Given the description of an element on the screen output the (x, y) to click on. 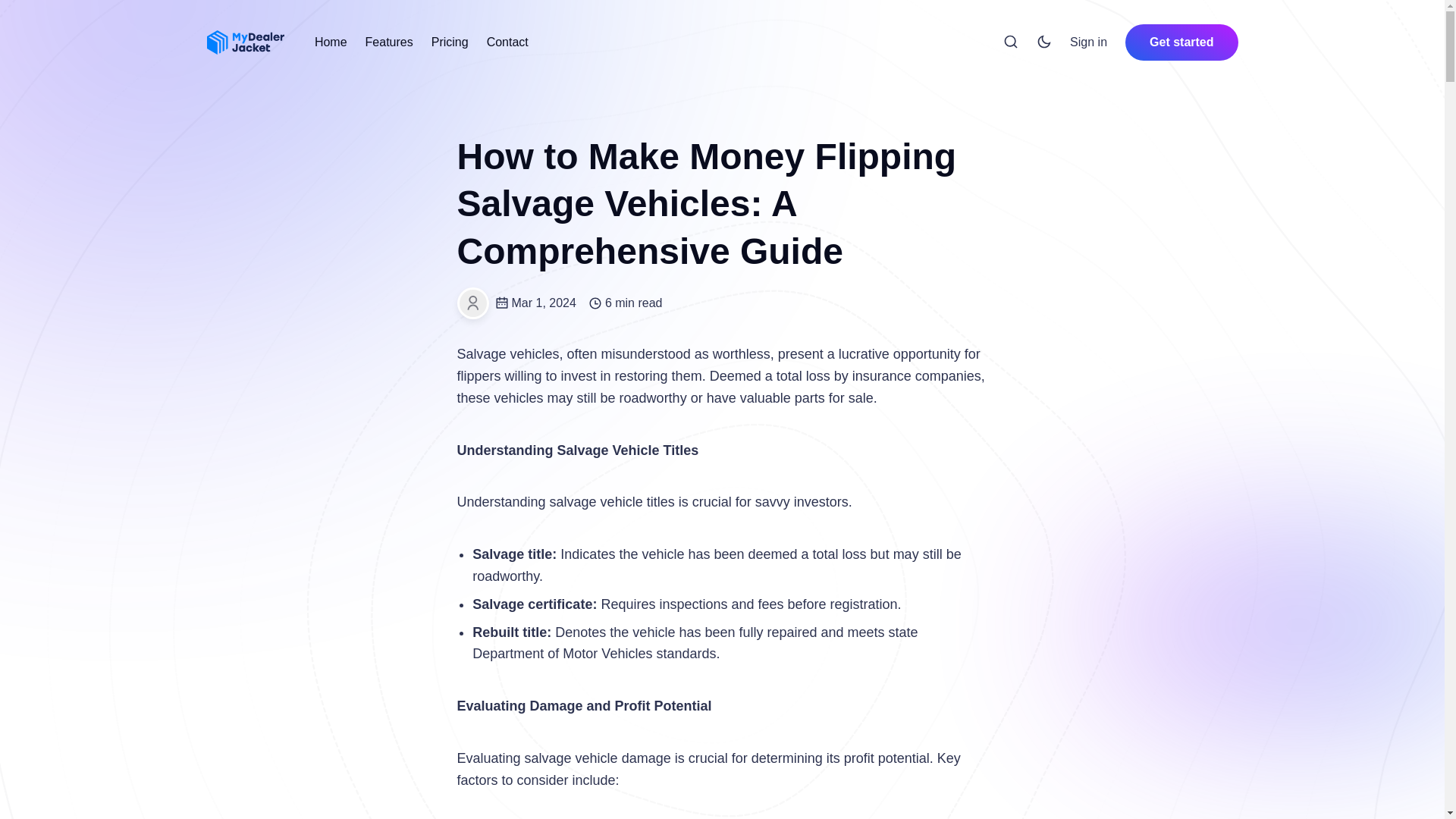
Pricing (449, 42)
Jose Betancourt (472, 303)
Contact (507, 42)
Jose Betancourt (472, 303)
Sign in (1088, 42)
Get started (1181, 42)
Features (389, 42)
Home (330, 42)
